Given the description of an element on the screen output the (x, y) to click on. 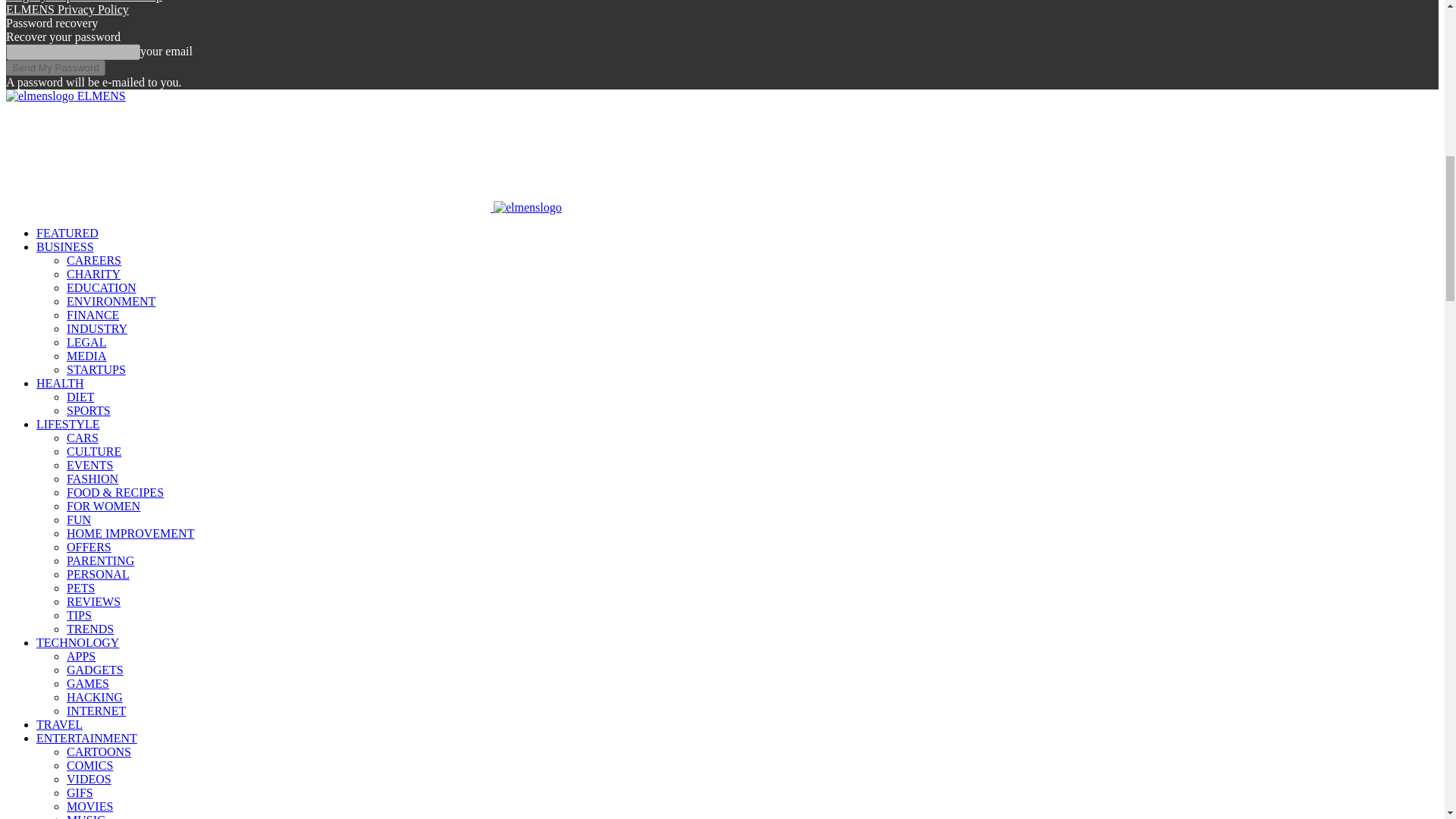
Send My Password (54, 67)
elmenslogo (527, 207)
CATEGORIES (67, 232)
LIFESTYLE (68, 423)
elmenslogo (247, 157)
elmenslogo (39, 96)
